Given the description of an element on the screen output the (x, y) to click on. 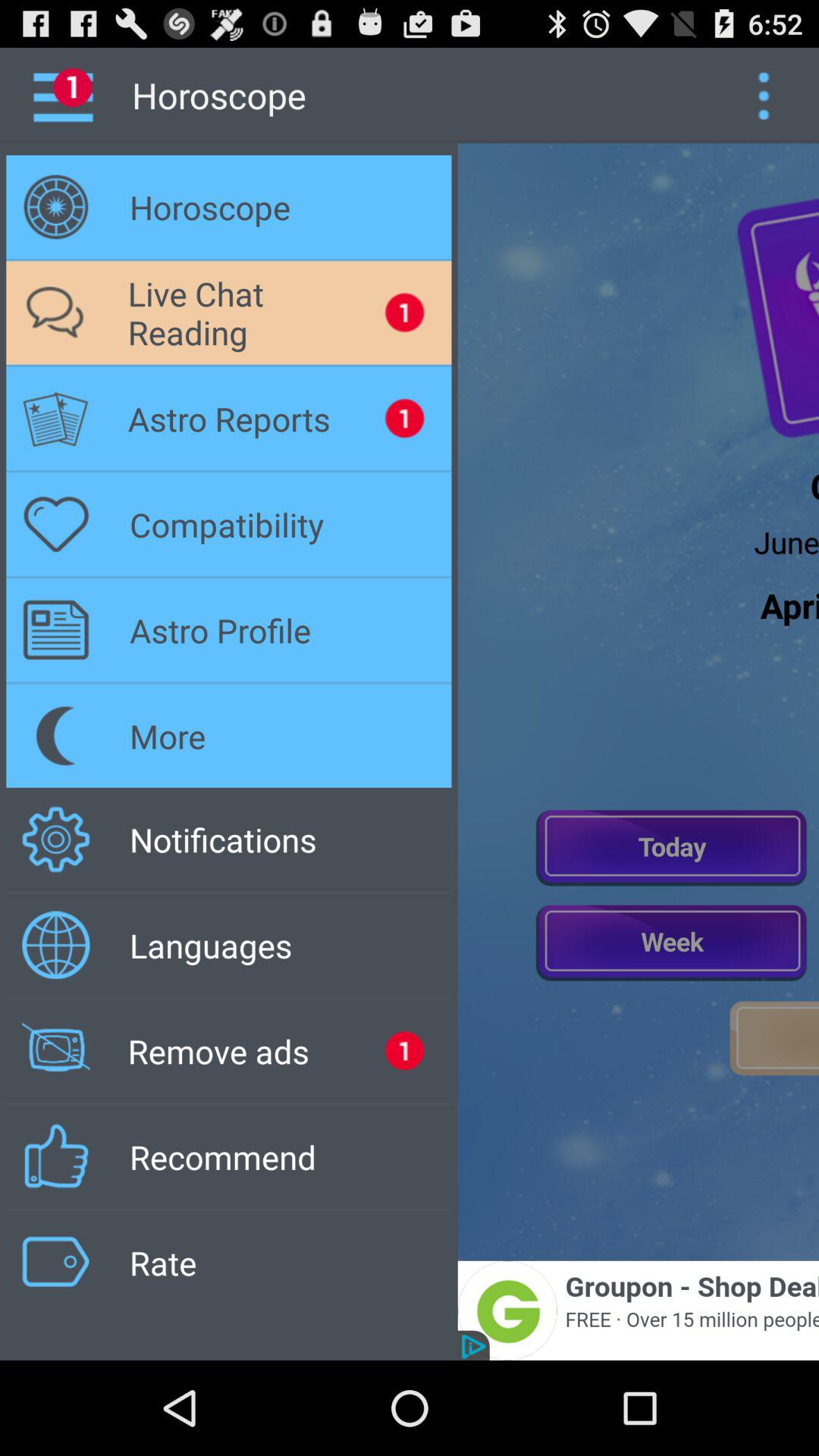
information (763, 95)
